Given the description of an element on the screen output the (x, y) to click on. 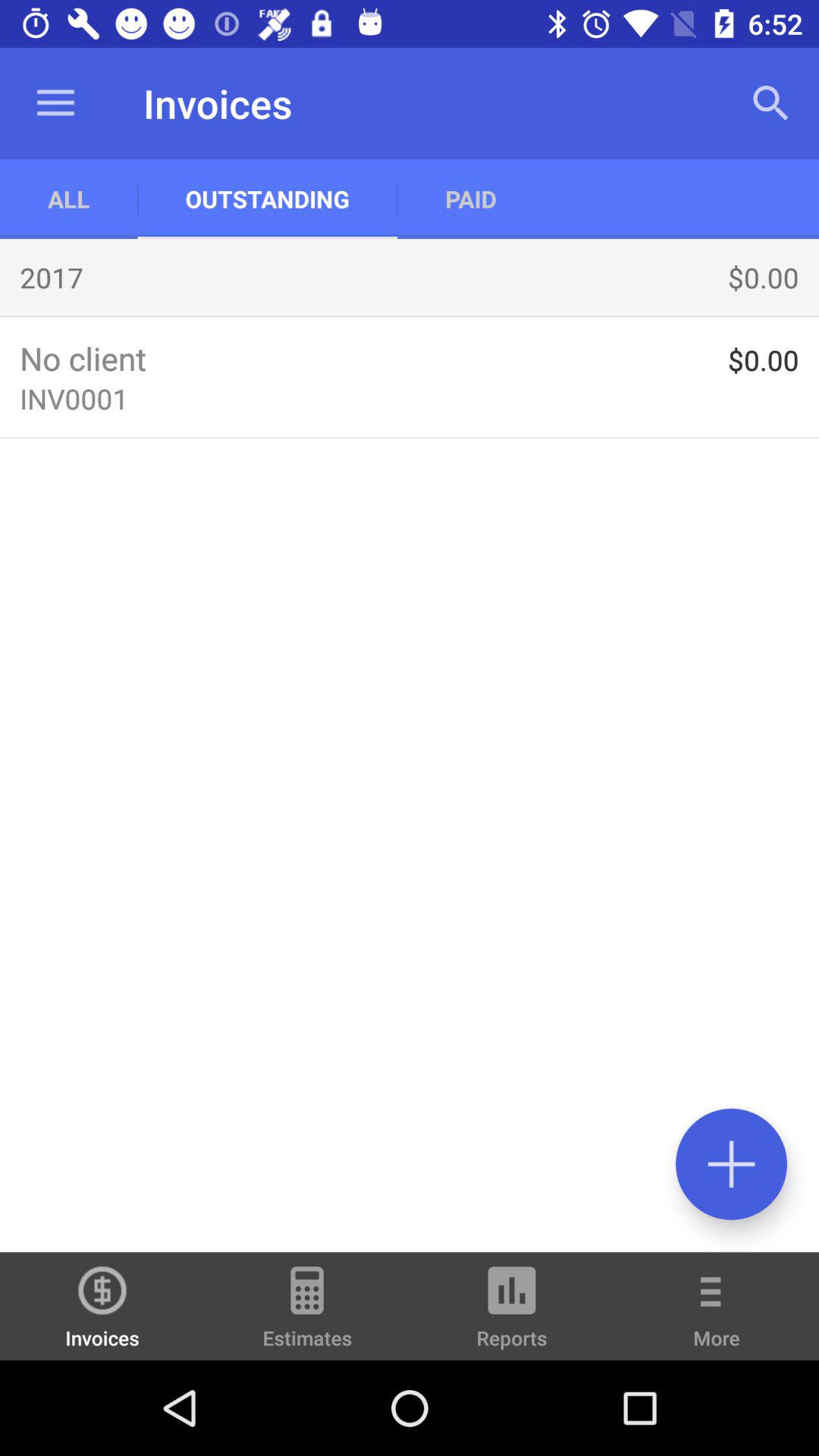
press icon below the 2017 item (409, 316)
